Given the description of an element on the screen output the (x, y) to click on. 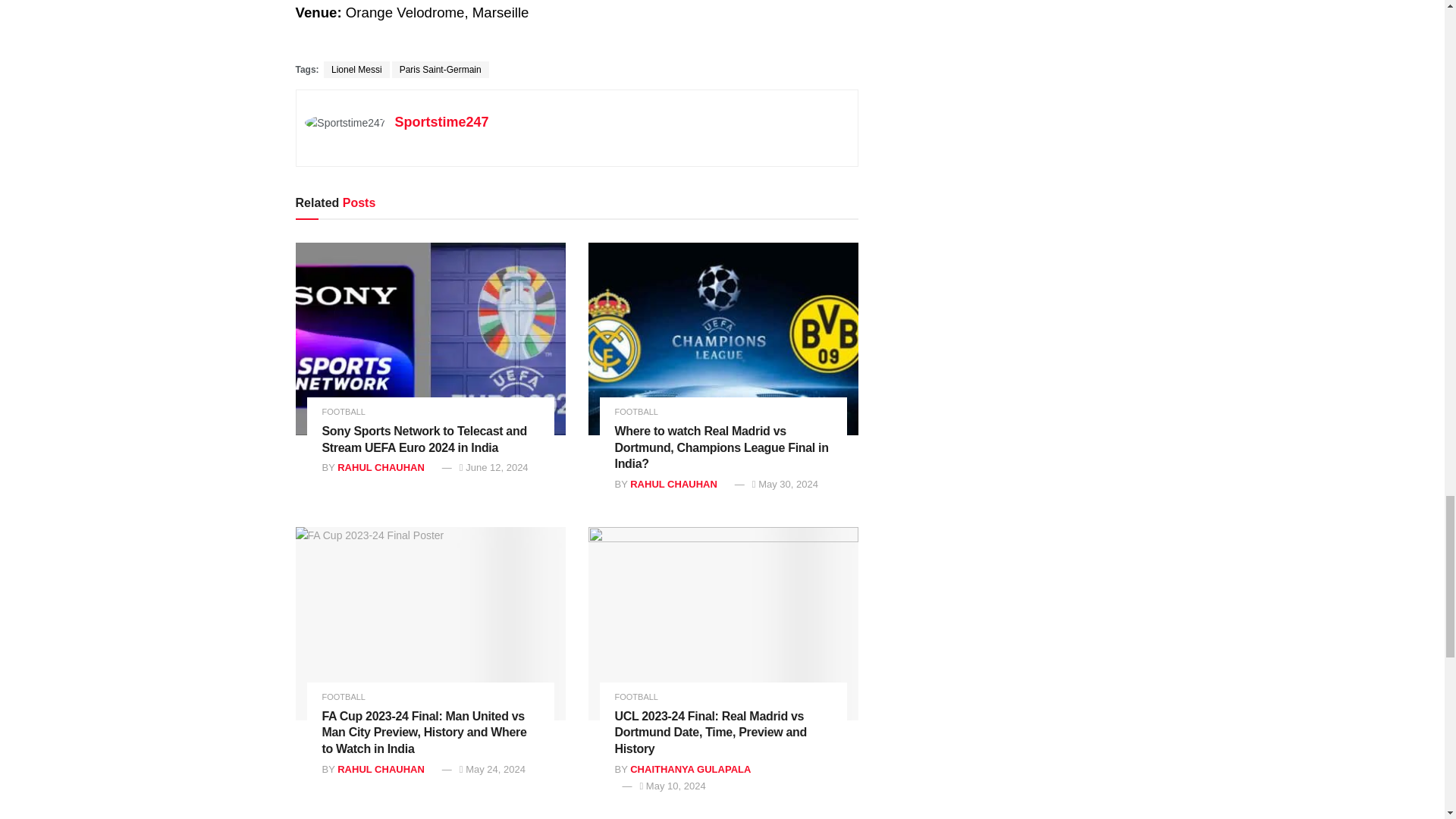
FOOTBALL (343, 411)
RAHUL CHAUHAN (381, 467)
Lionel Messi (356, 69)
Paris Saint-Germain (440, 69)
Sportstime247 (440, 121)
June 12, 2024 (494, 467)
